Given the description of an element on the screen output the (x, y) to click on. 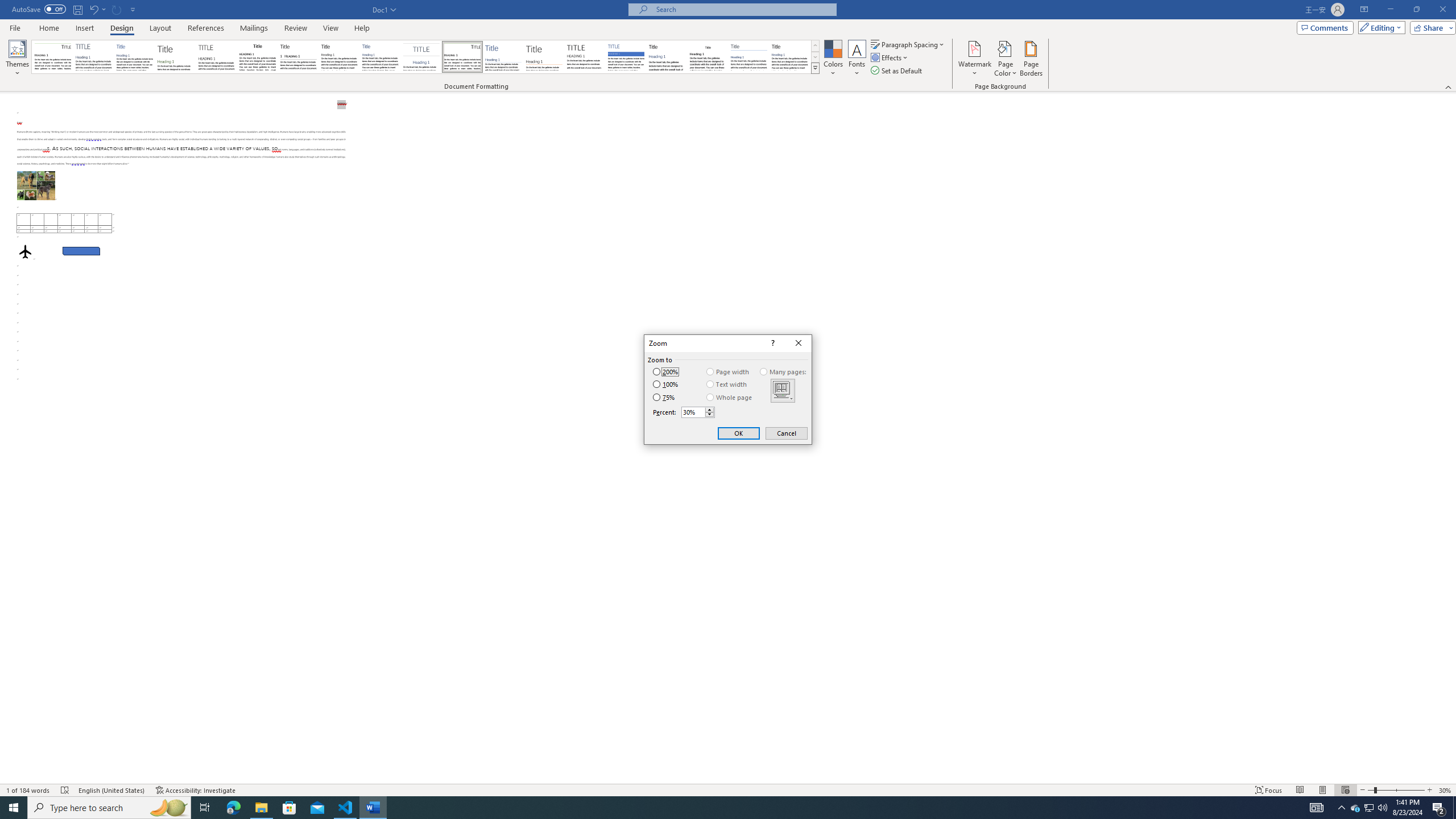
Fonts (856, 58)
Page Borders... (1031, 58)
Lines (Distinctive) (462, 56)
Many pages: (784, 371)
Set as Default (897, 69)
